Given the description of an element on the screen output the (x, y) to click on. 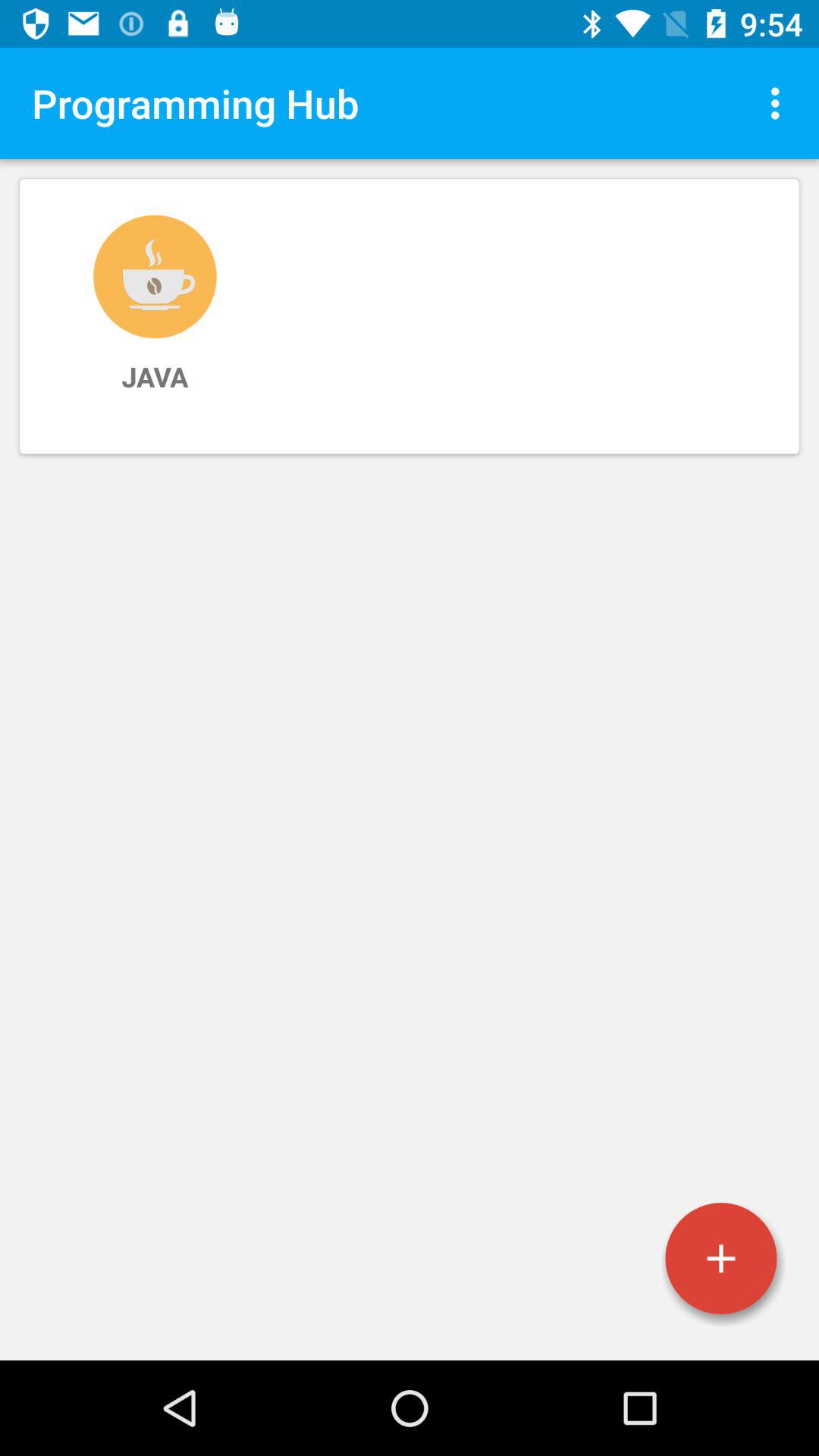
add codes (721, 1258)
